Given the description of an element on the screen output the (x, y) to click on. 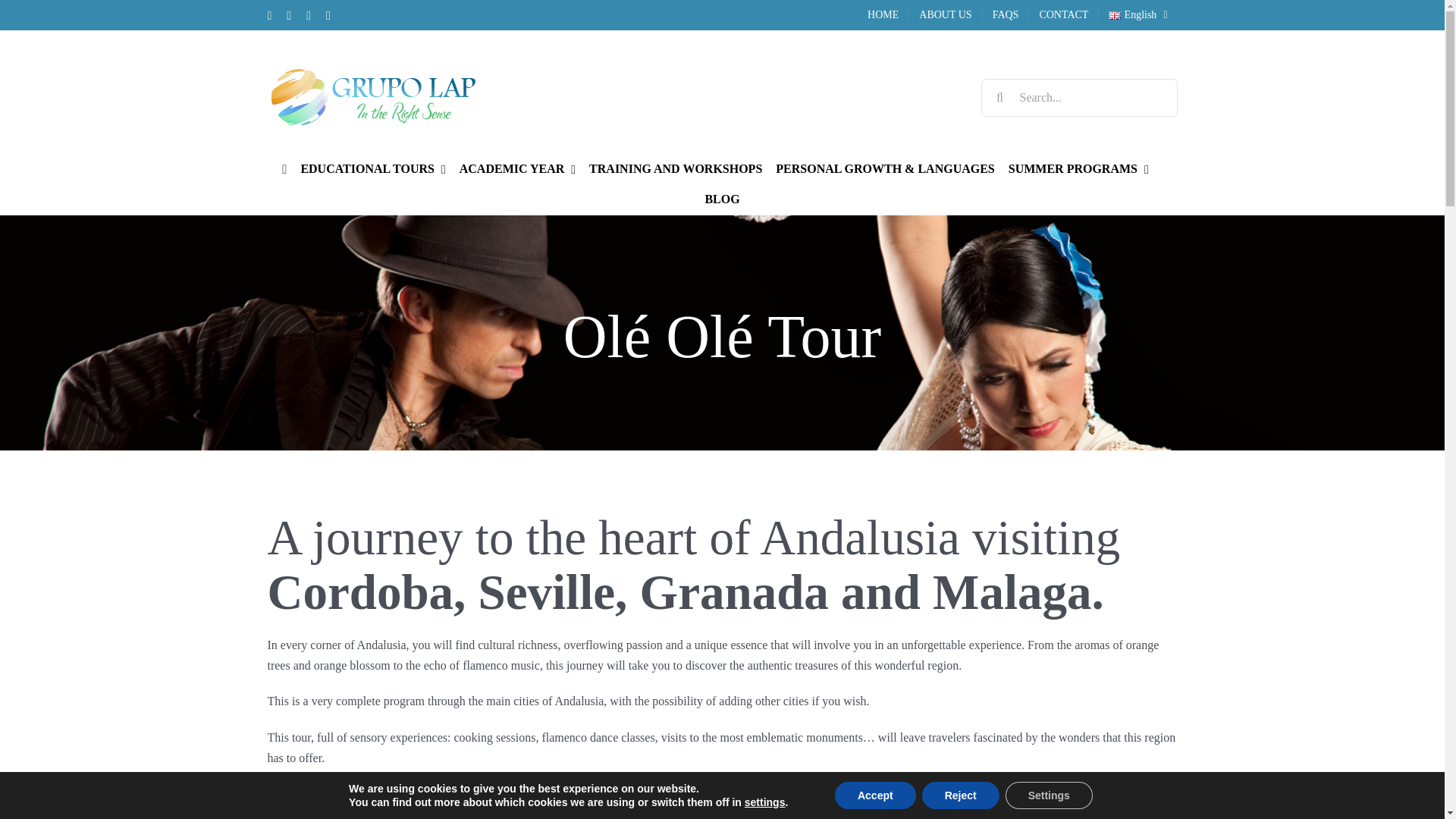
ABOUT US (944, 14)
FAQS (1005, 14)
YouTube video player 1 (721, 800)
HOME (882, 14)
ACADEMIC YEAR (517, 168)
CONTACT (1063, 14)
EDUCATIONAL TOURS (372, 168)
English (1137, 14)
